Given the description of an element on the screen output the (x, y) to click on. 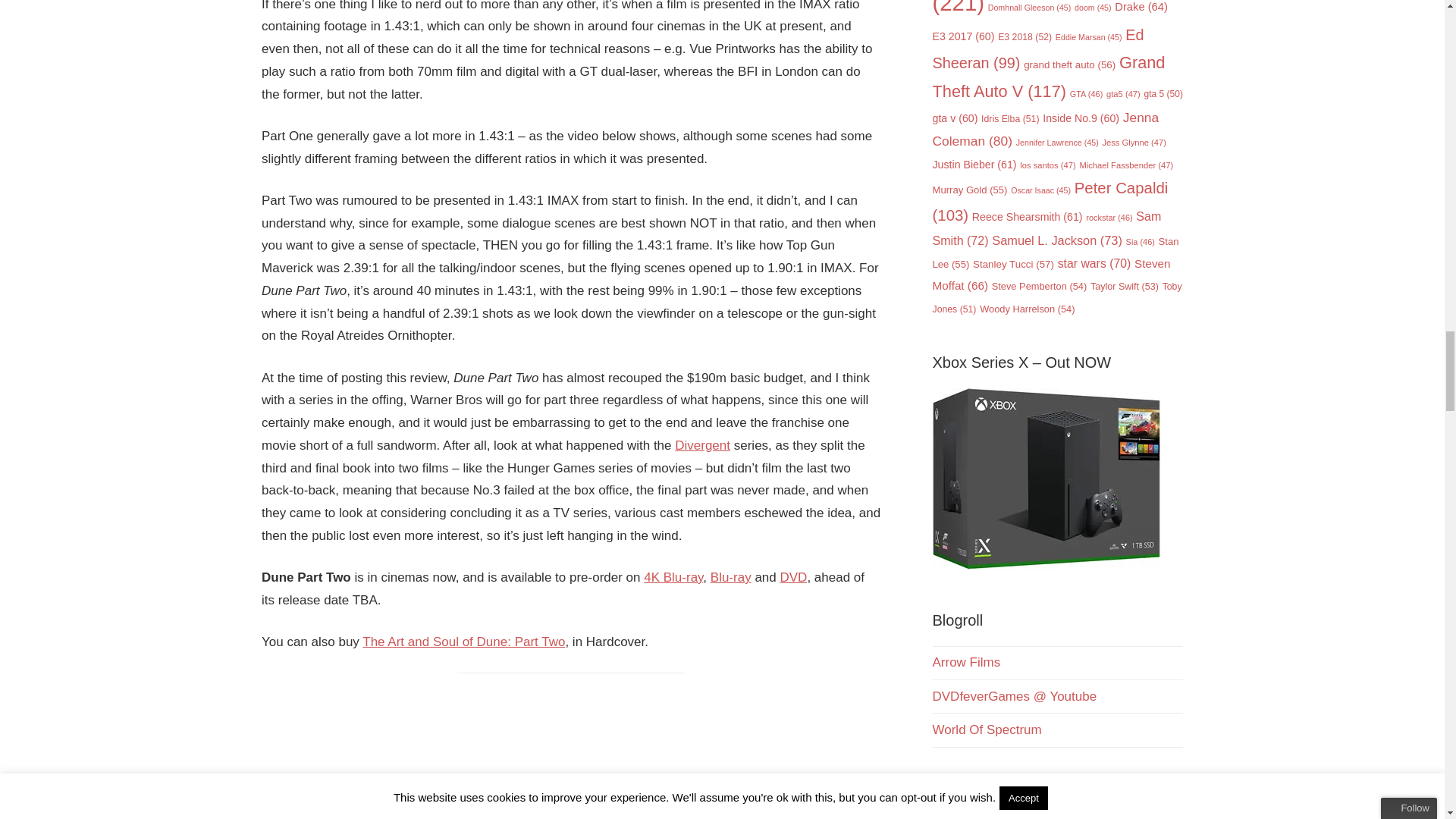
YouTube video player (571, 755)
